Given the description of an element on the screen output the (x, y) to click on. 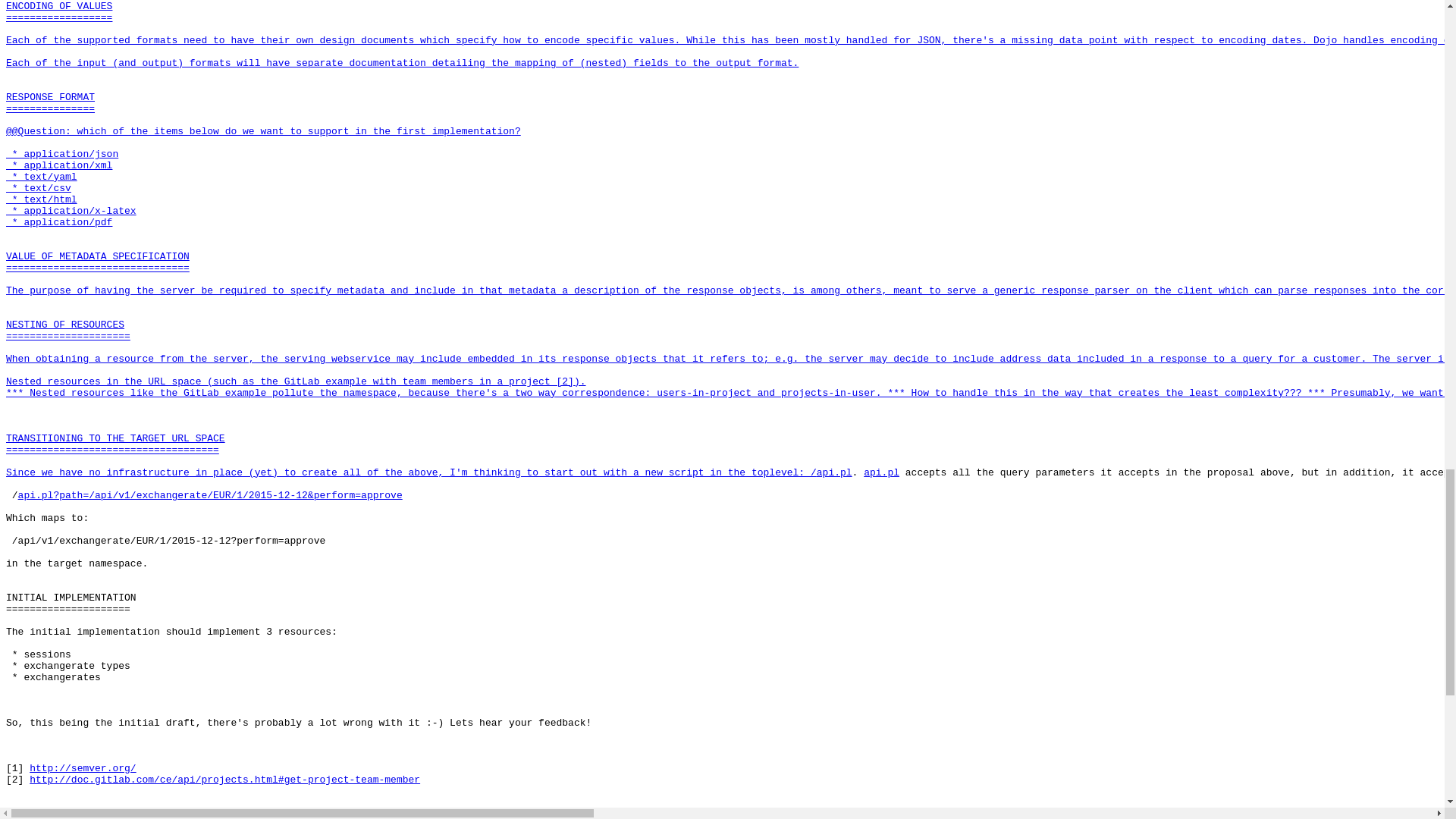
api.pl (881, 472)
api.pl (833, 472)
